Given the description of an element on the screen output the (x, y) to click on. 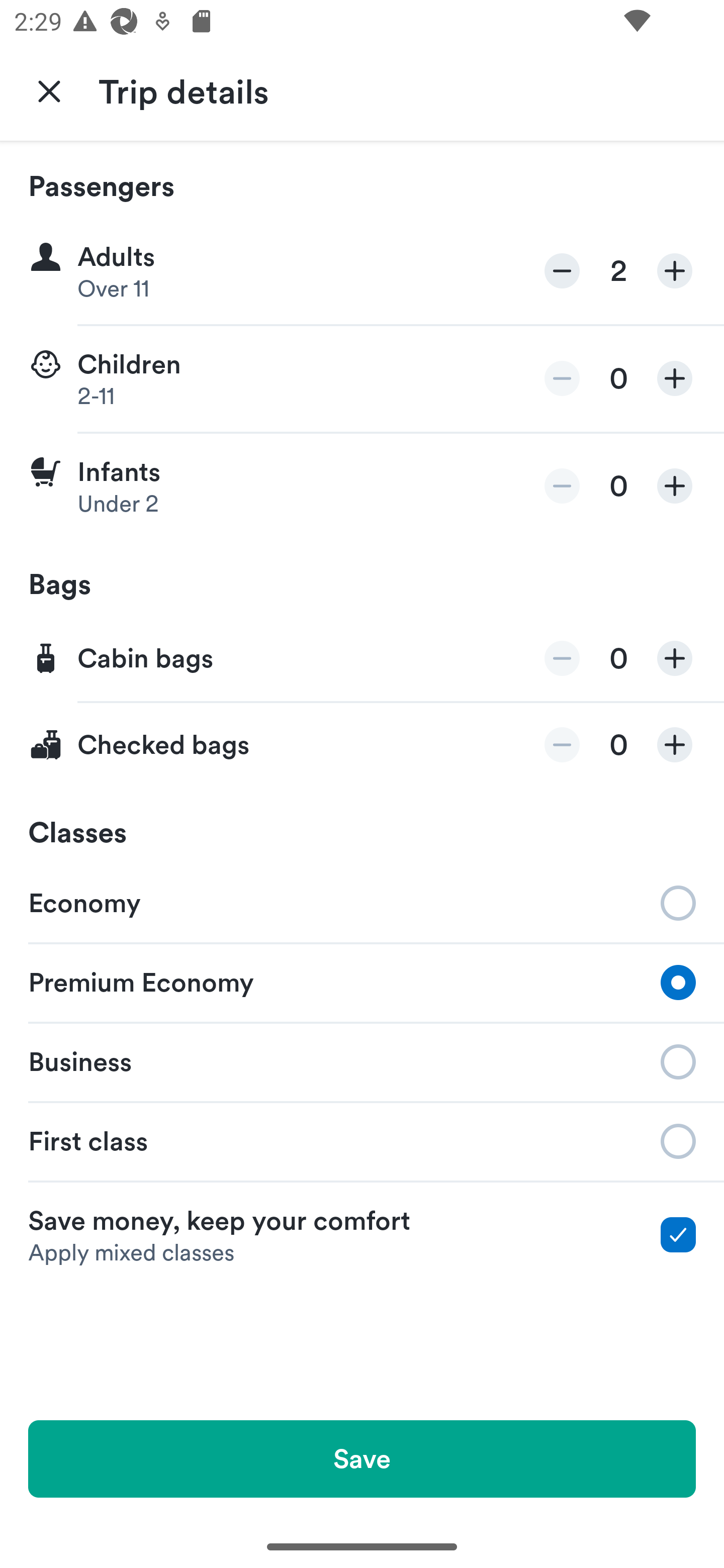
Navigate up (49, 90)
Remove 2 Add Adults Over 11 (362, 271)
Remove (561, 270)
Add (674, 270)
Remove 0 Add Children 2-11 (362, 379)
Remove (561, 377)
Add (674, 377)
Remove 0 Add Infants Under 2 (362, 485)
Remove (561, 485)
Add (674, 485)
Remove 0 Add Cabin bags (362, 659)
Remove (561, 658)
Add (674, 658)
Remove 0 Add Checked bags (362, 744)
Remove (561, 744)
Add (674, 744)
Economy (362, 901)
Business (362, 1060)
First class (362, 1141)
Save (361, 1458)
